Given the description of an element on the screen output the (x, y) to click on. 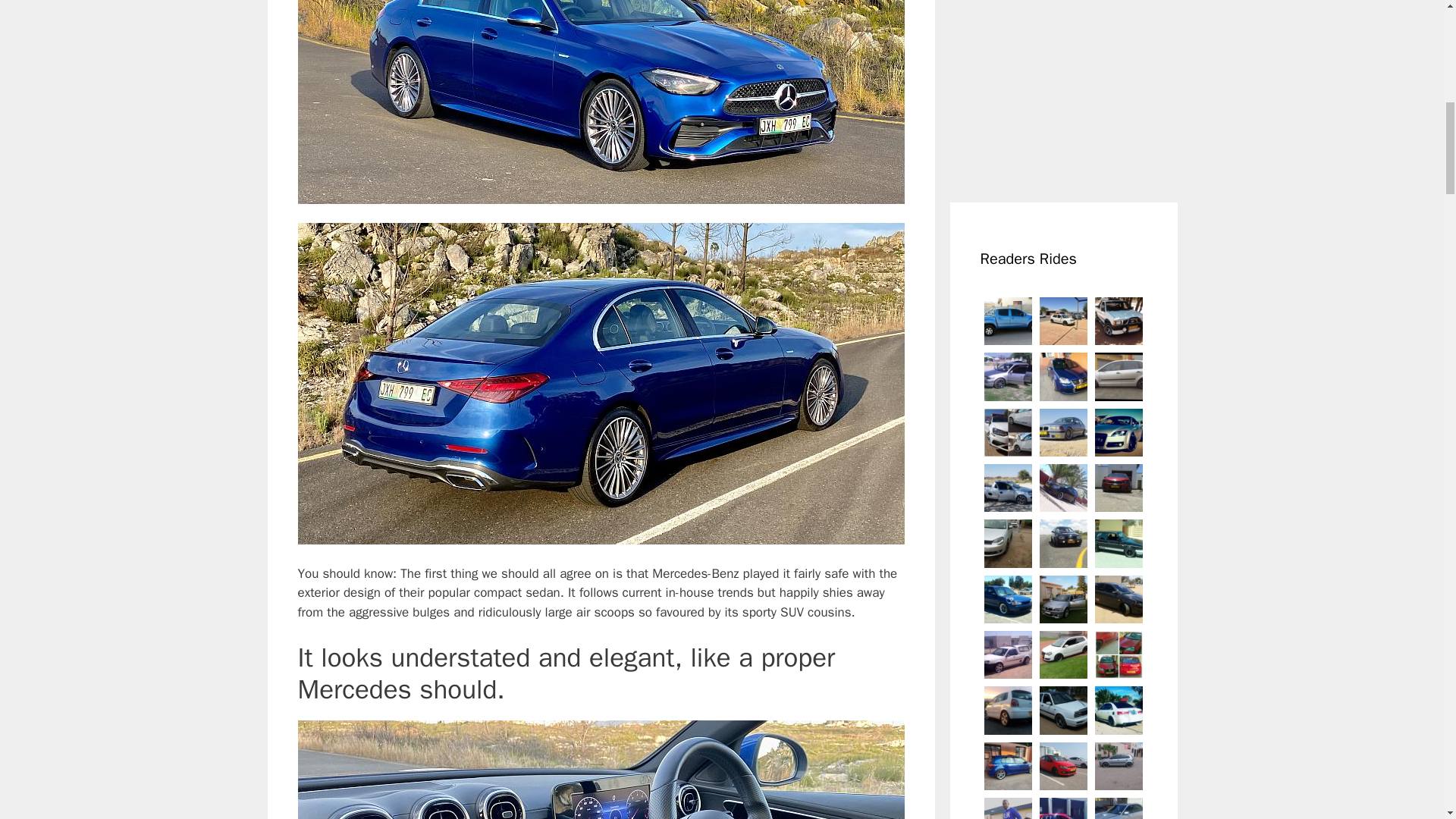
Scroll back to top (1406, 720)
